Given the description of an element on the screen output the (x, y) to click on. 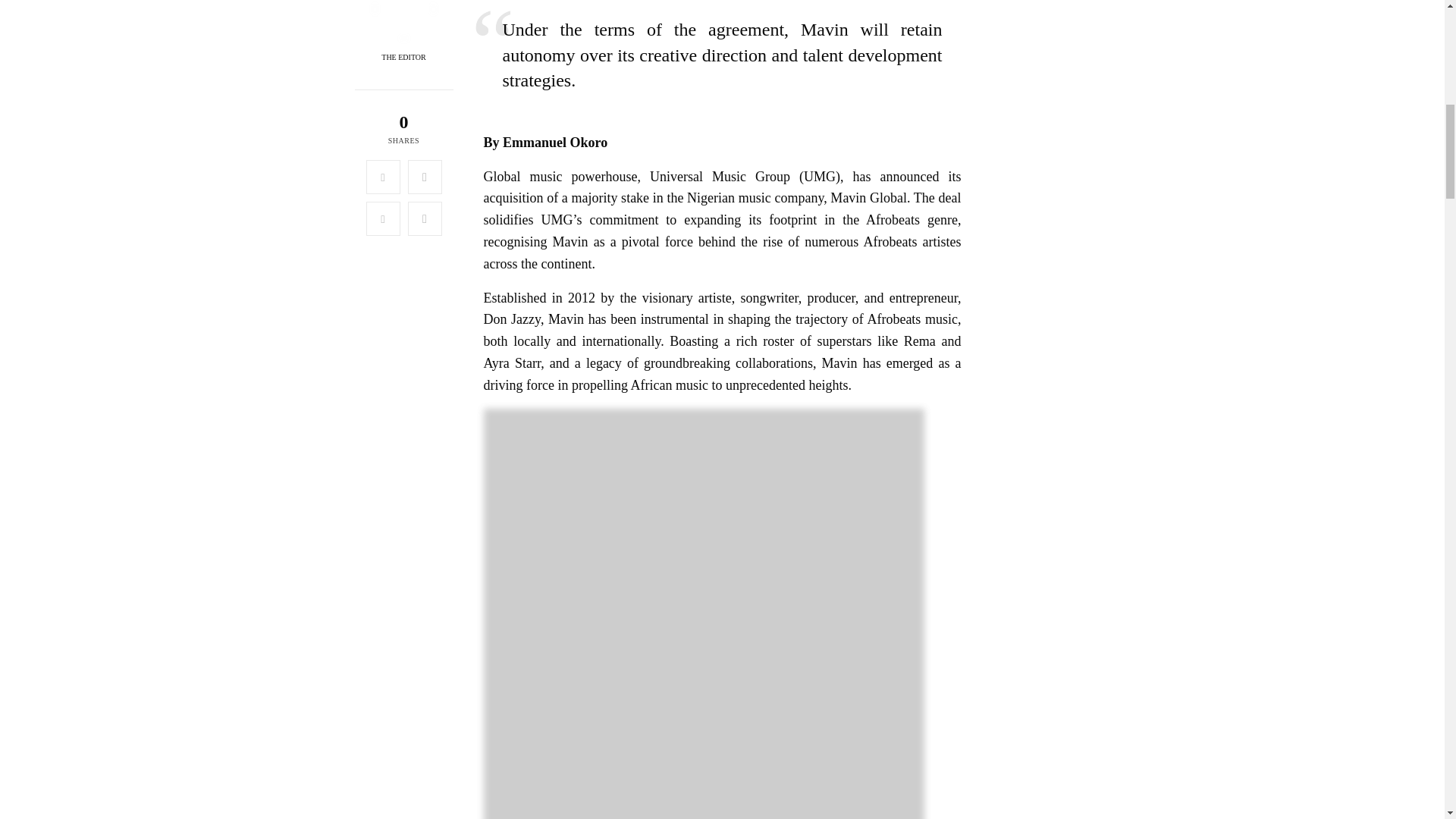
THE EDITOR (403, 57)
Rema (920, 340)
Afrobeats music (912, 319)
Ayra Starr (512, 363)
